Given the description of an element on the screen output the (x, y) to click on. 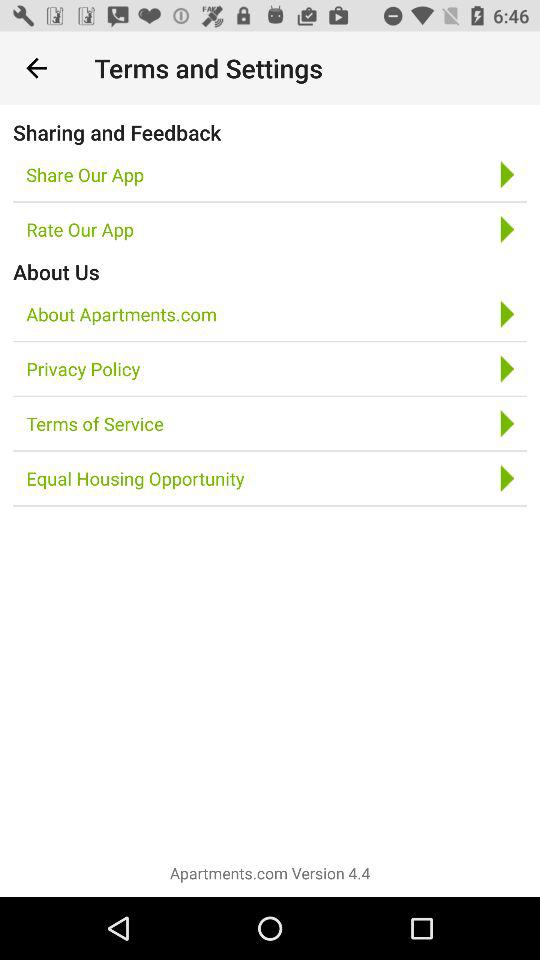
turn off the icon below privacy policy item (94, 423)
